Given the description of an element on the screen output the (x, y) to click on. 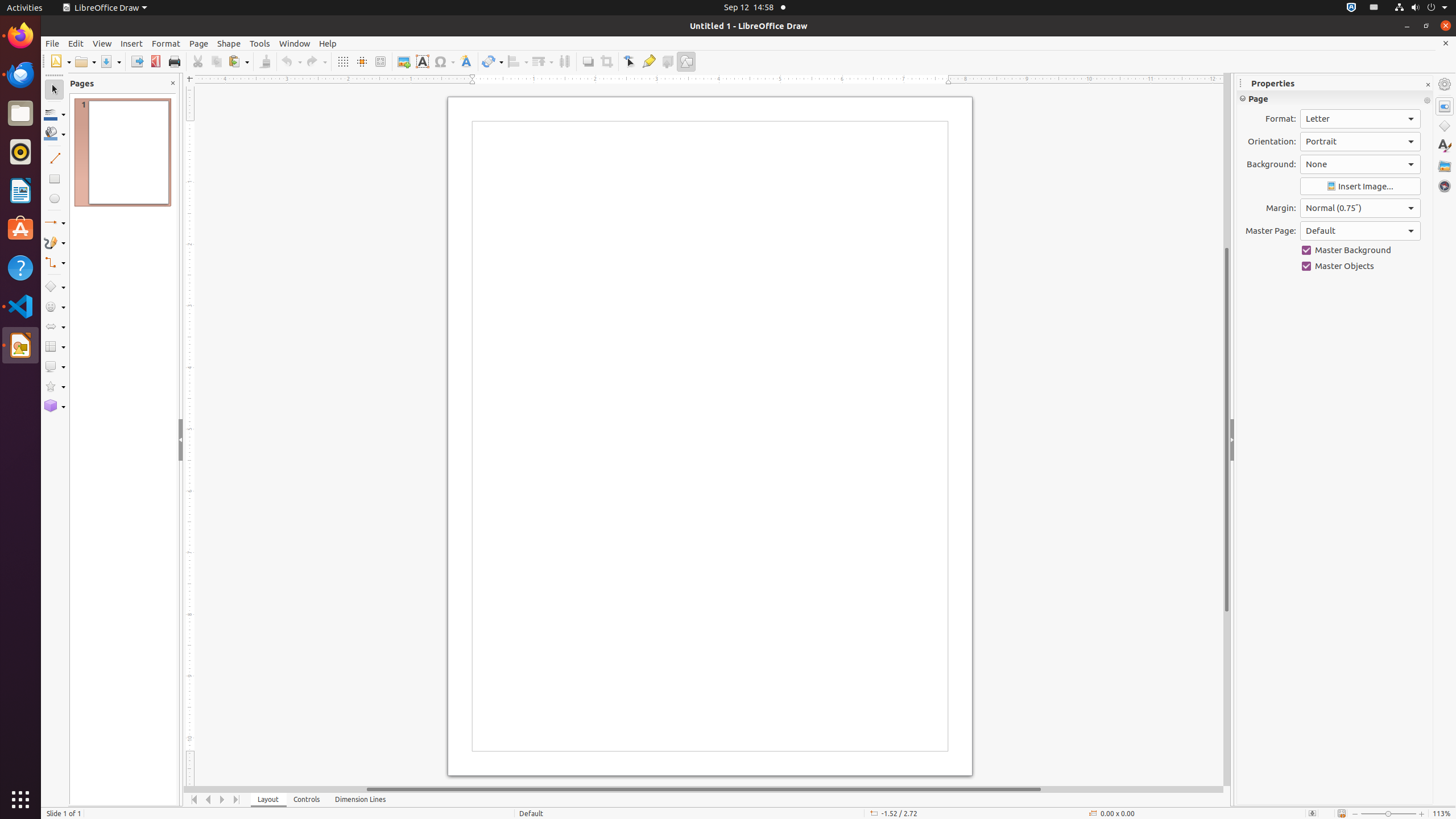
Symbol Shapes Element type: push-button (54, 306)
Paste Element type: push-button (237, 61)
Save Element type: push-button (109, 61)
Helplines While Moving Element type: toggle-button (361, 61)
